Given the description of an element on the screen output the (x, y) to click on. 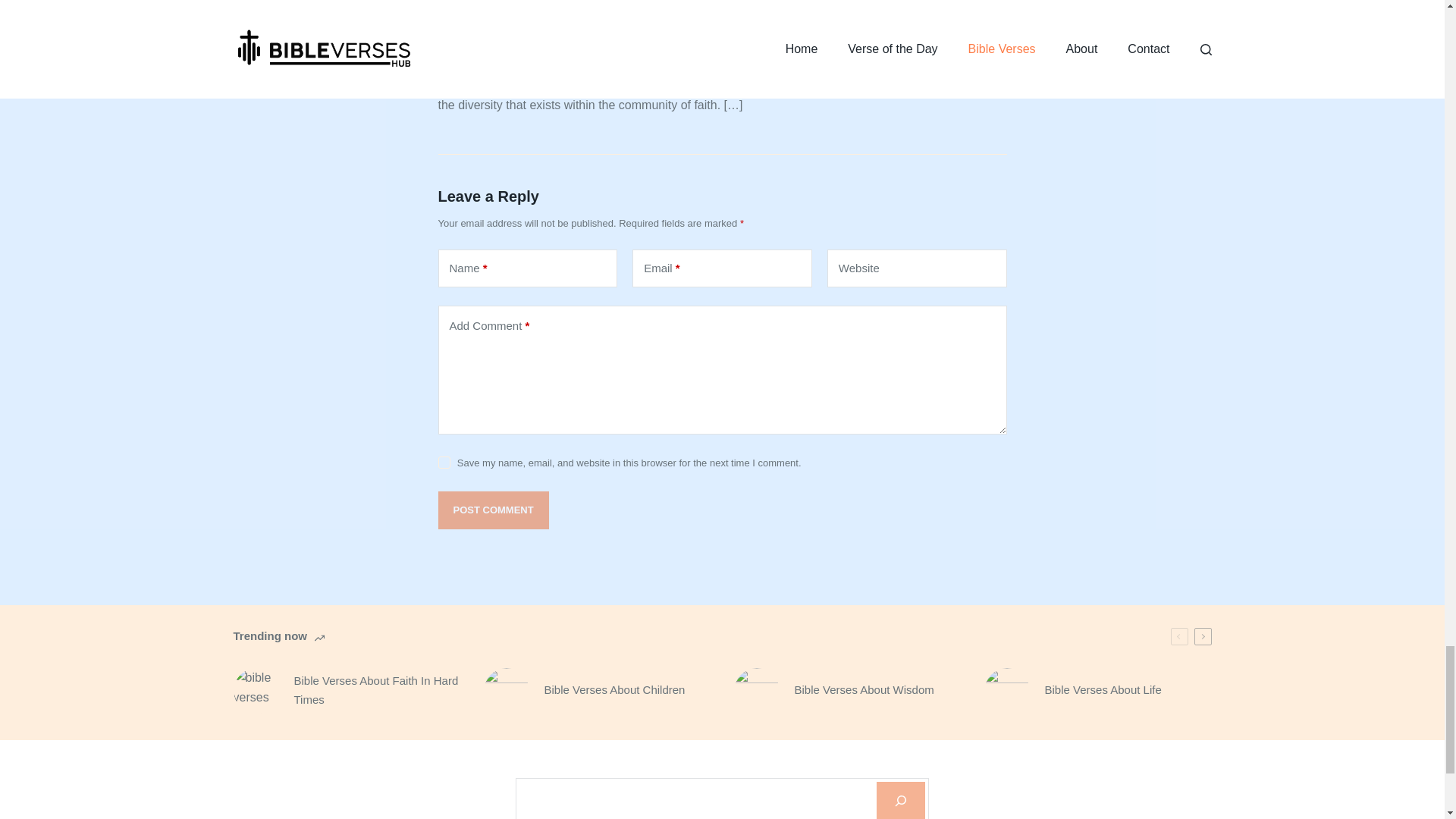
yes (443, 462)
